Given the description of an element on the screen output the (x, y) to click on. 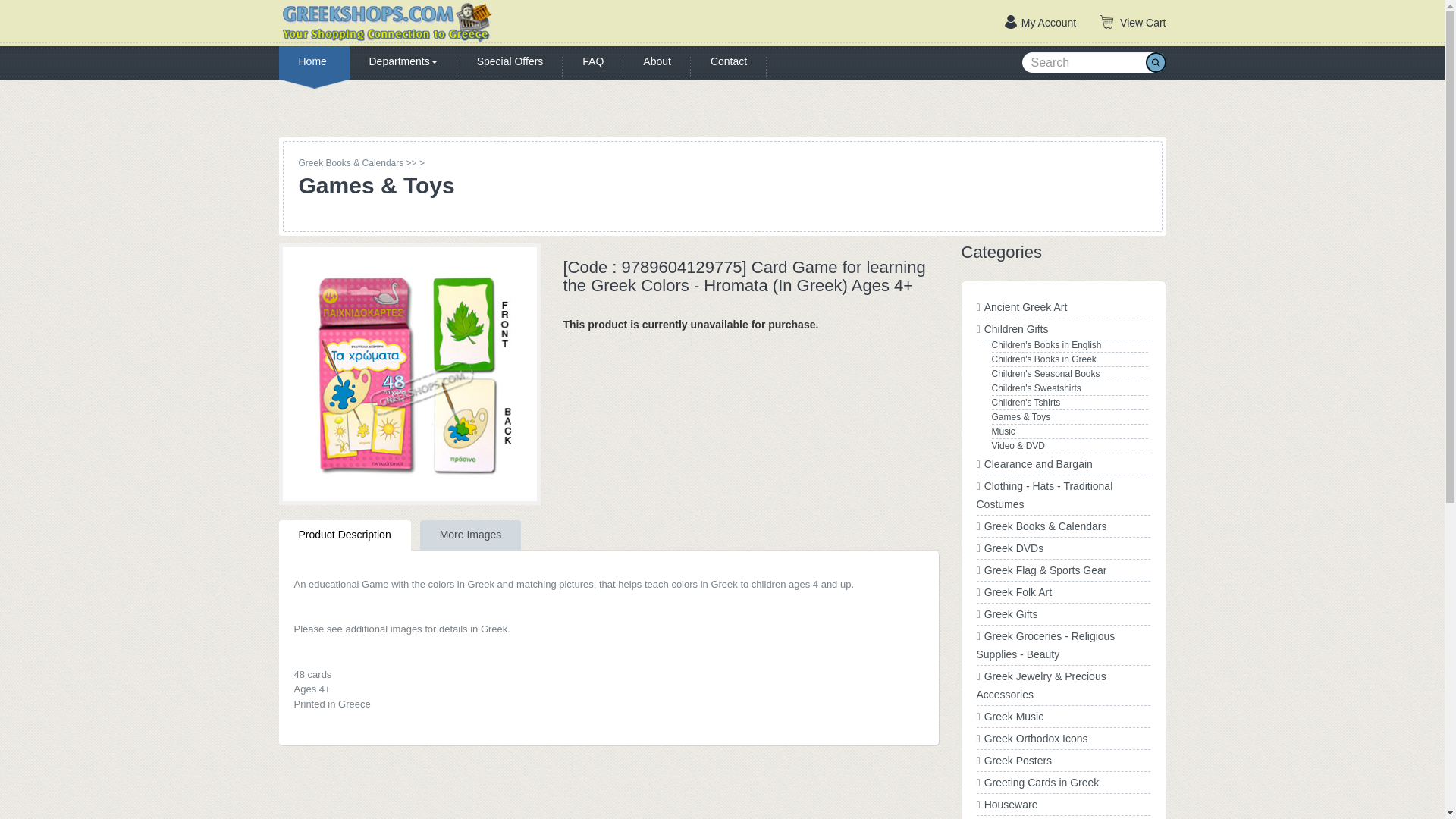
Button (1155, 62)
Button (1155, 62)
Home (314, 62)
Departments (403, 62)
View Cart (1132, 23)
My Account (1039, 23)
